Given the description of an element on the screen output the (x, y) to click on. 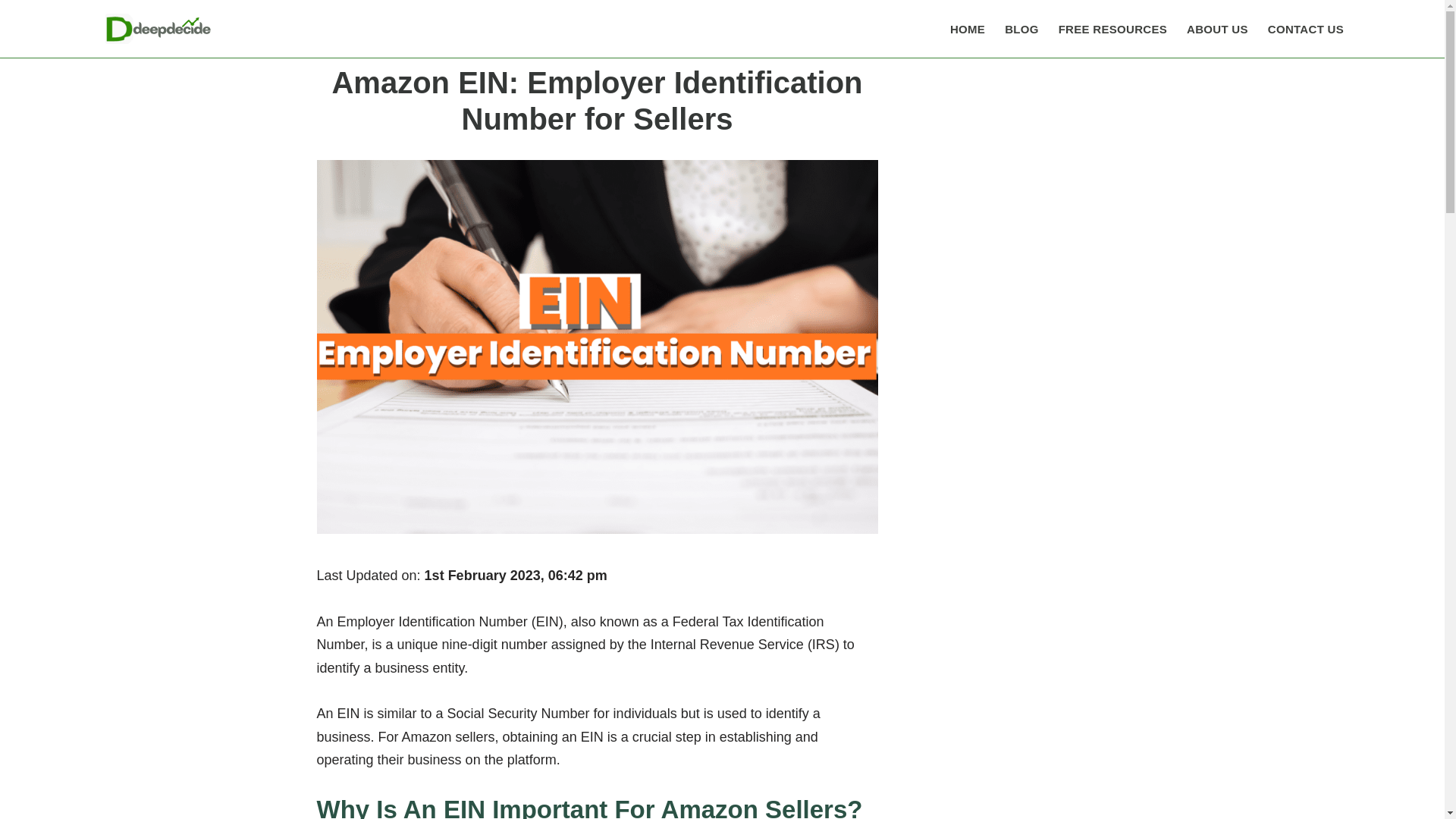
BLOG (1021, 28)
FREE RESOURCES (1112, 28)
Skip to content (11, 31)
ABOUT US (1216, 28)
CONTACT US (1305, 28)
HOME (967, 28)
